Given the description of an element on the screen output the (x, y) to click on. 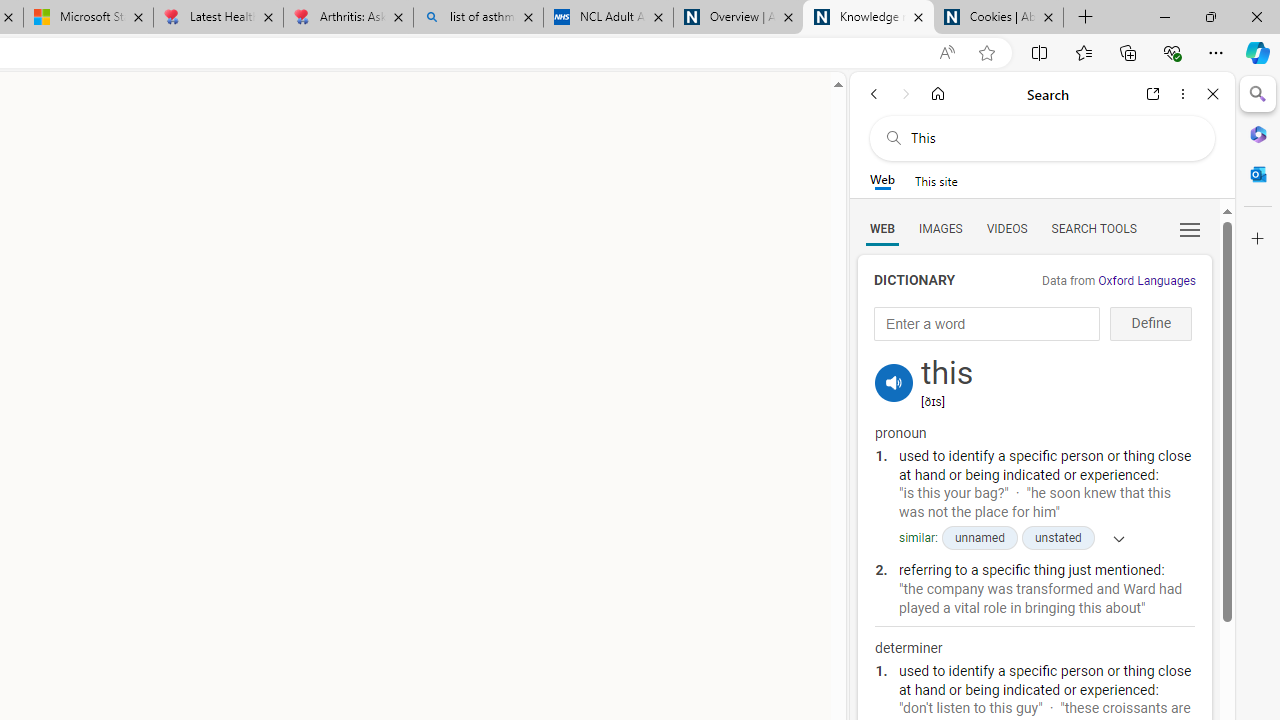
Class: b_serphb (1190, 229)
VIDEOS (1006, 228)
Microsoft Start (88, 17)
unnamed (978, 538)
Outlook (1258, 174)
Search Filter, VIDEOS (1006, 228)
Show more (1112, 538)
unstated (1057, 538)
Search (1258, 94)
WEB   (882, 228)
Arthritis: Ask Health Professionals (348, 17)
list of asthma inhalers uk - Search (477, 17)
Forward (906, 93)
